Given the description of an element on the screen output the (x, y) to click on. 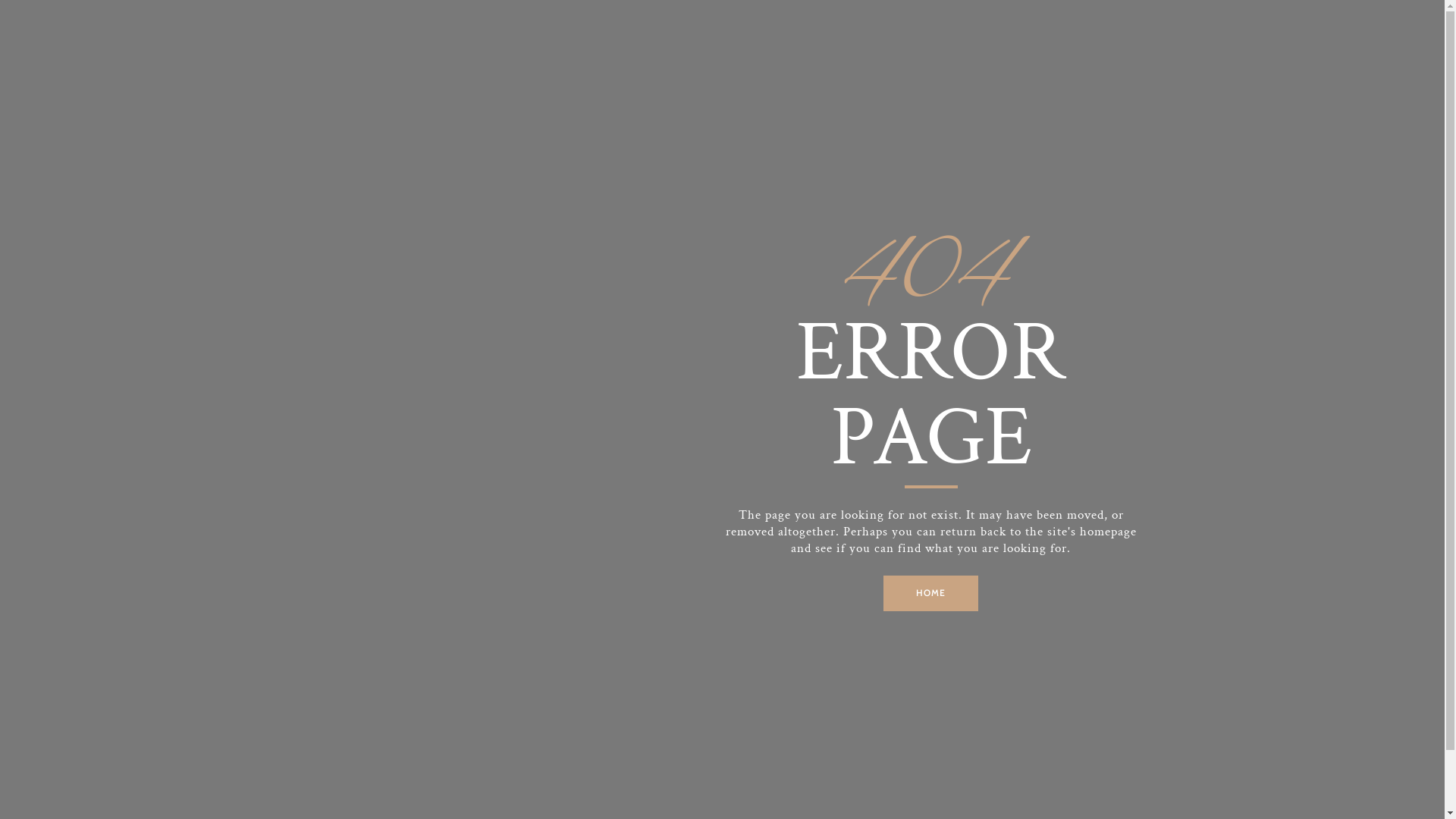
HOME Element type: text (930, 592)
